Given the description of an element on the screen output the (x, y) to click on. 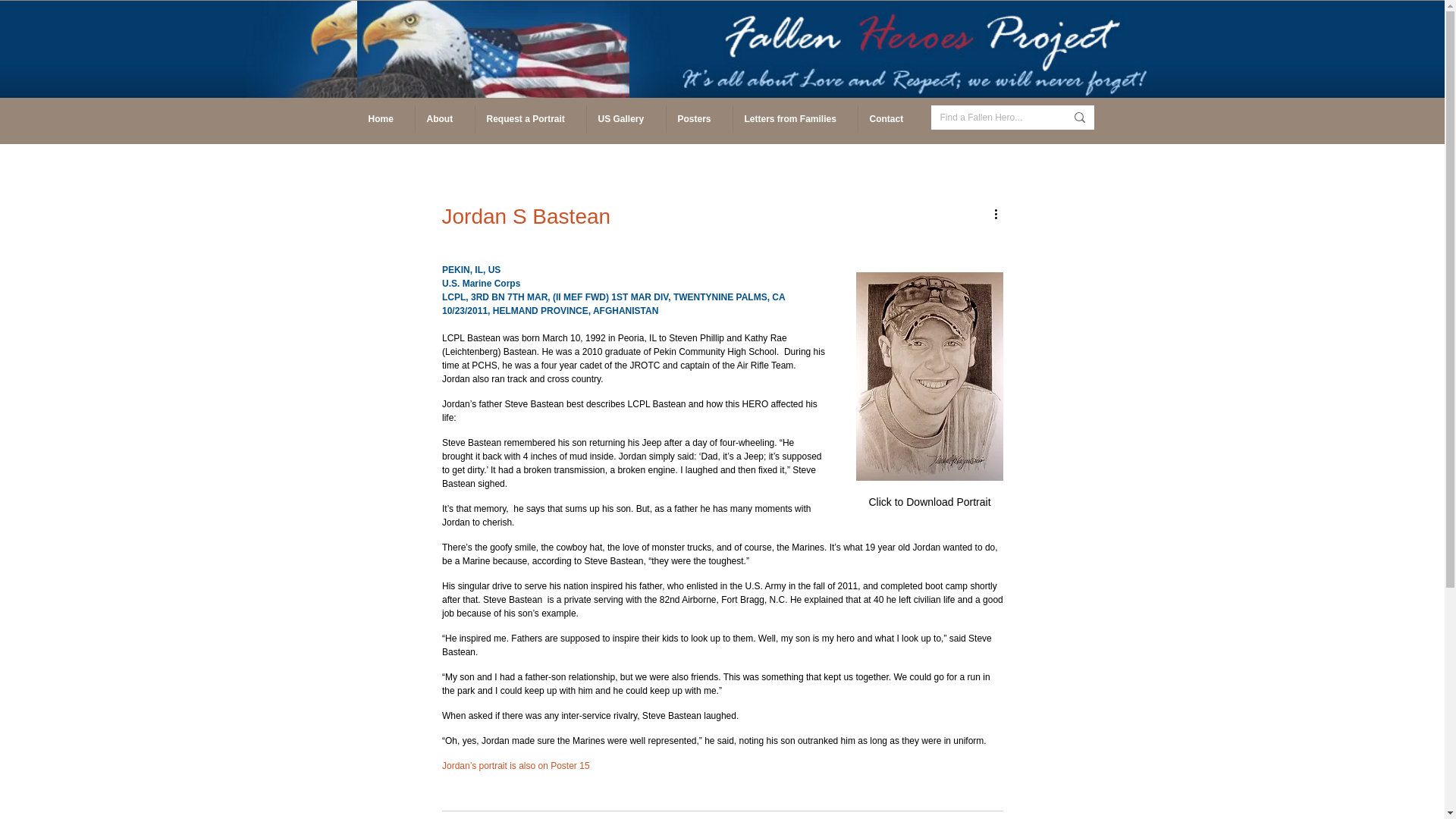
US Gallery (625, 118)
Letters from Families (794, 118)
Contact (890, 118)
Home (384, 118)
Posters (698, 118)
About (443, 118)
Request a Portrait (530, 118)
